Given the description of an element on the screen output the (x, y) to click on. 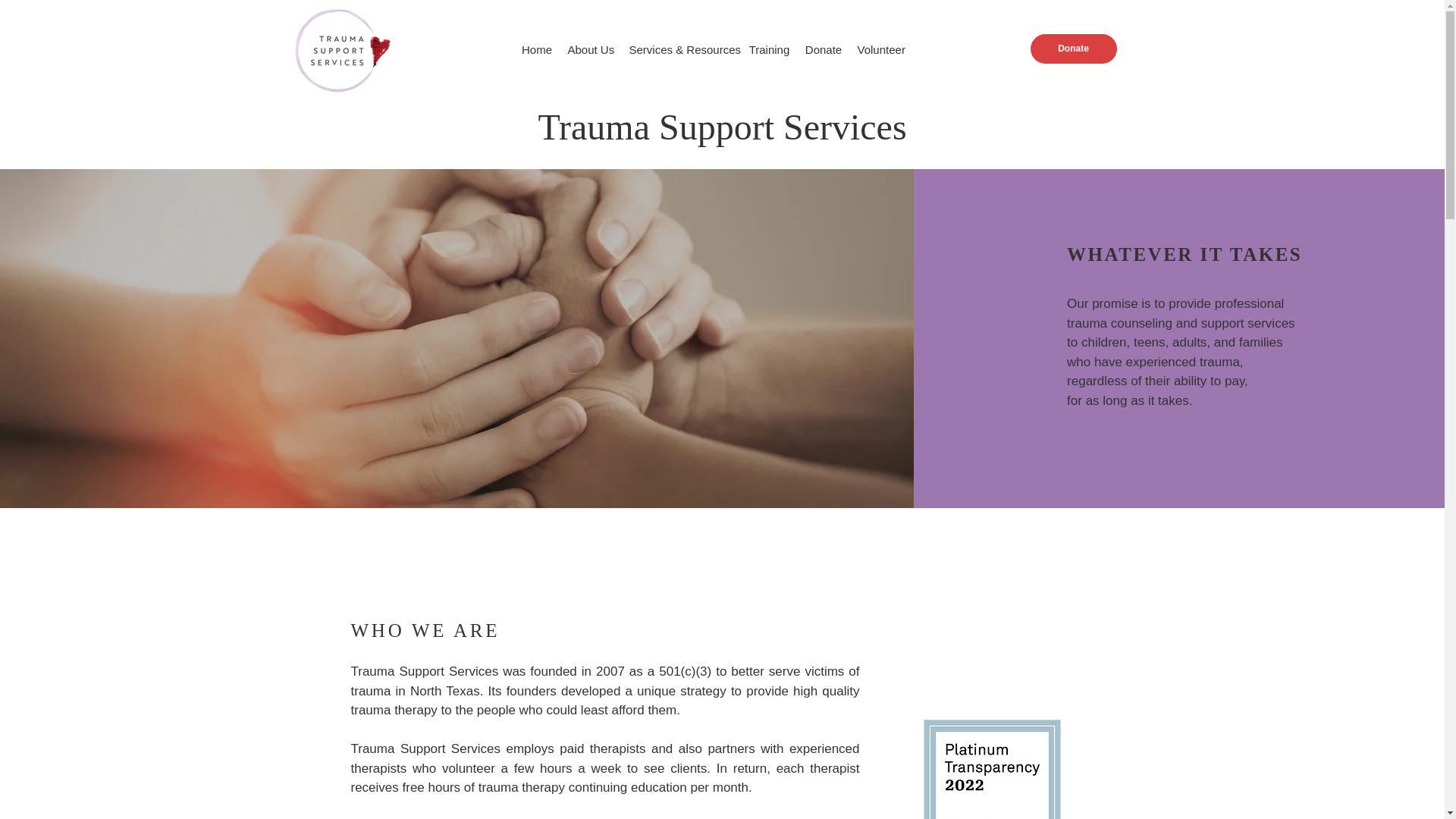
Donate (1072, 48)
Donate (823, 49)
Training (769, 49)
Home (536, 49)
About Us (590, 49)
Volunteer (880, 49)
